Given the description of an element on the screen output the (x, y) to click on. 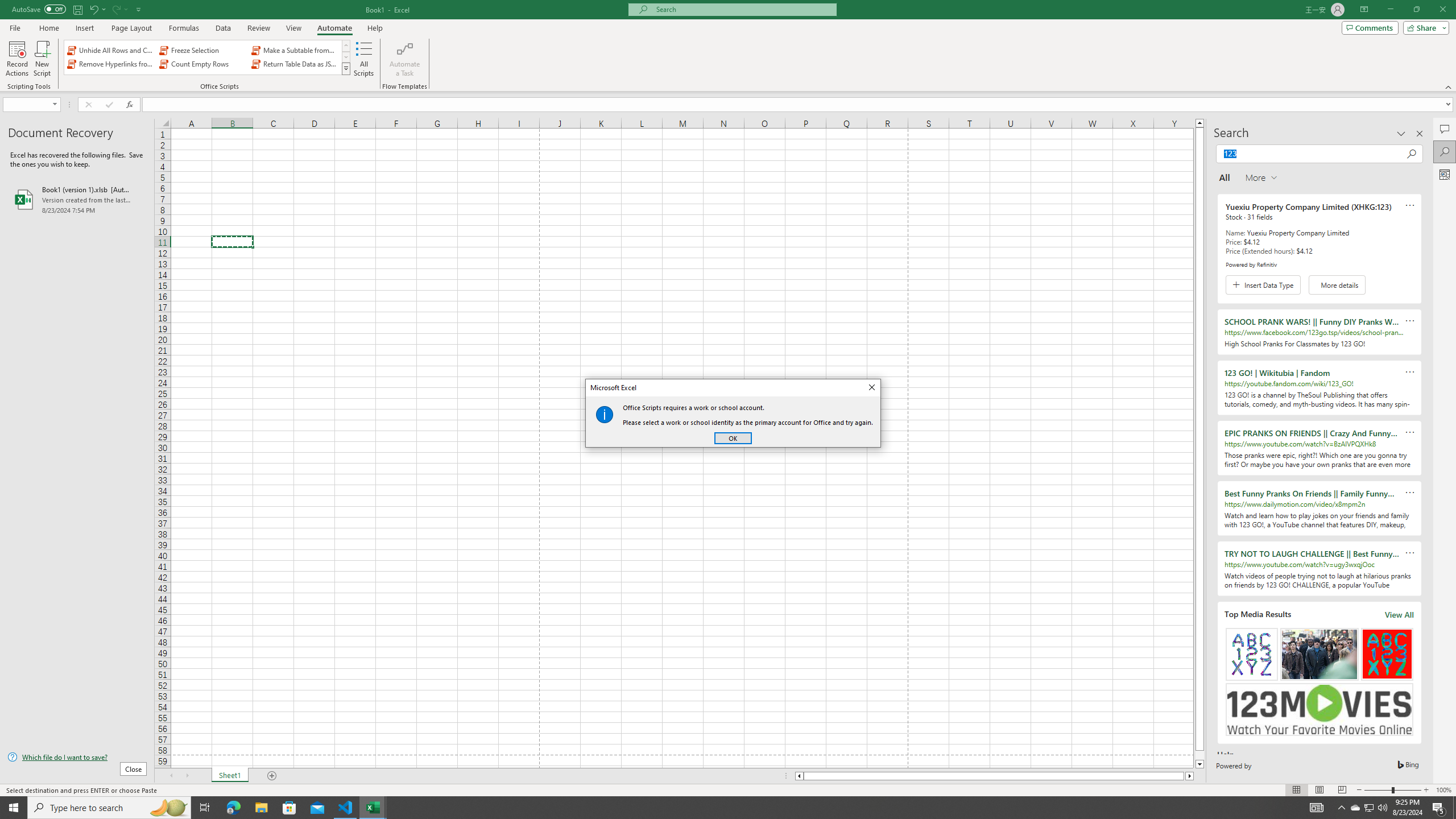
Q2790: 100% (1382, 807)
Notification Chevron (1341, 807)
